Given the description of an element on the screen output the (x, y) to click on. 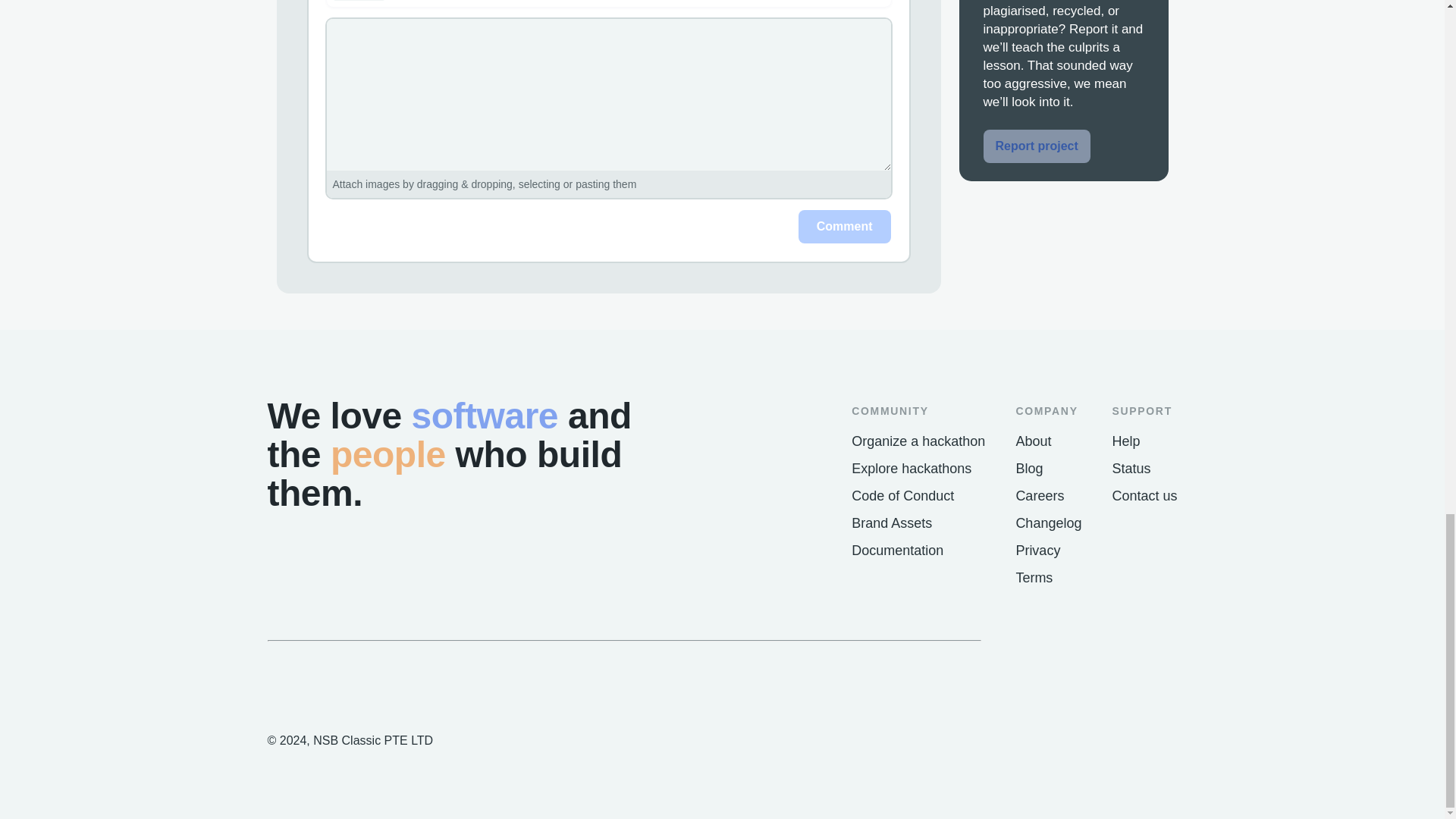
PREVIEW (424, 0)
WRITE (358, 0)
Comment (844, 226)
Report project (1035, 145)
Organize a hackathon (918, 441)
